Given the description of an element on the screen output the (x, y) to click on. 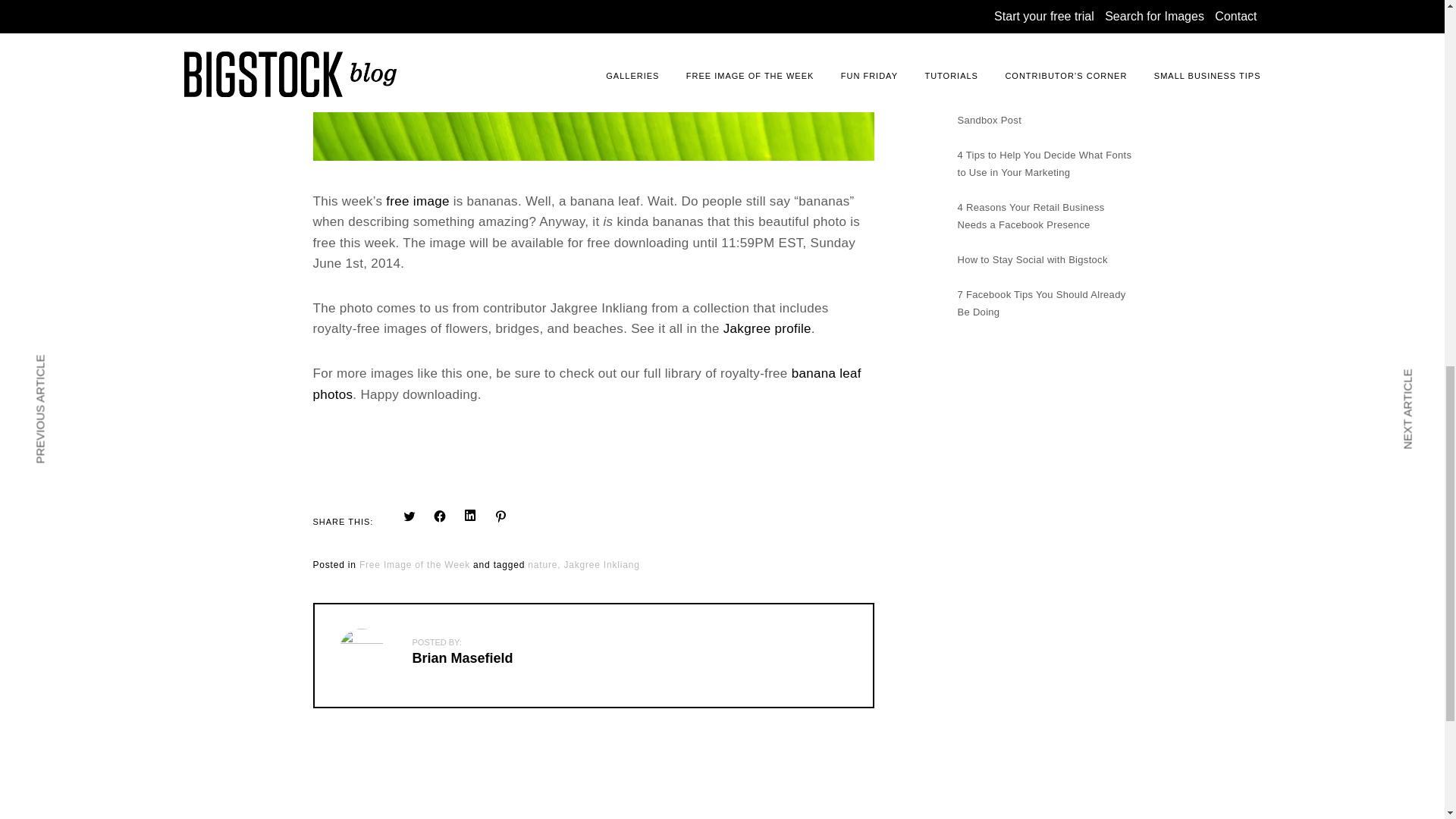
banana leaf photos (586, 384)
nature (543, 564)
Posts by Brian Masefield (462, 657)
Brian Masefield (462, 657)
Click to share on Twitter (409, 516)
free image (416, 201)
Click to share on LinkedIn (469, 515)
Jakgree profile (766, 328)
Click to share on Facebook (439, 516)
Jakgree Inkliang (601, 564)
Click to share on Pinterest (499, 516)
Free Image of the Week (414, 564)
Sandbox Post (989, 120)
